Given the description of an element on the screen output the (x, y) to click on. 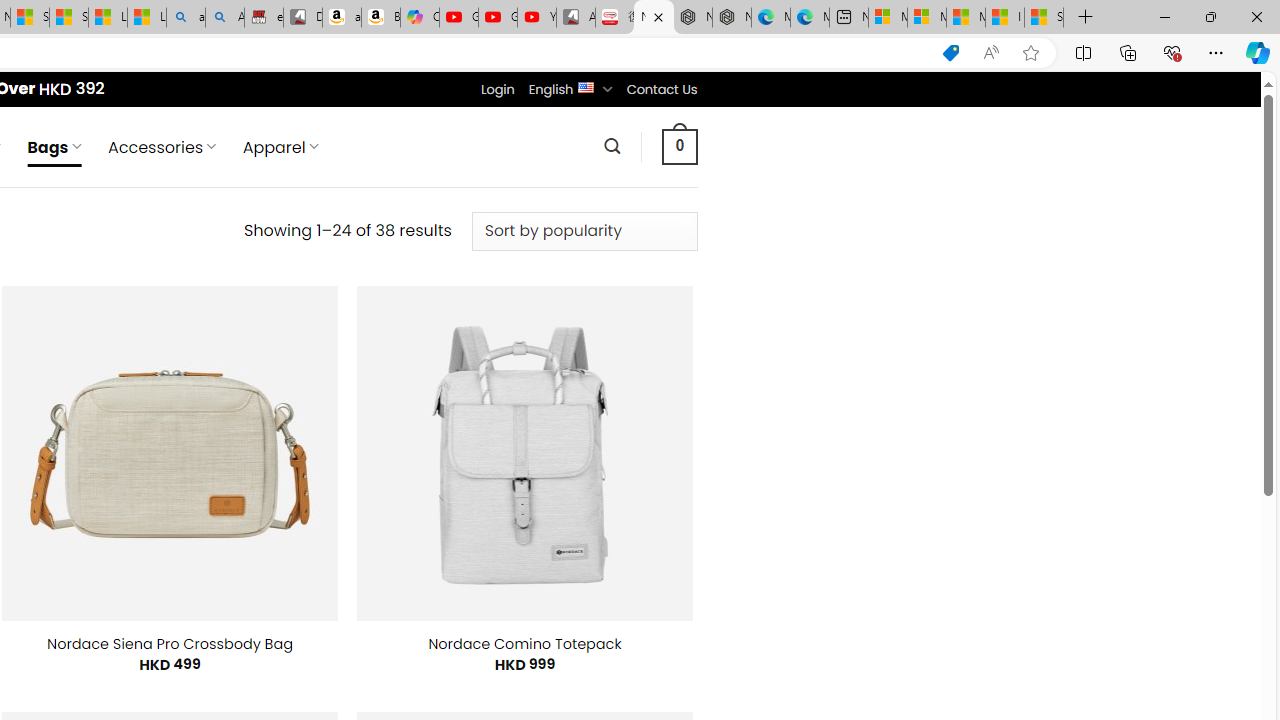
Search (612, 146)
All Cubot phones (575, 17)
Shop order (584, 231)
